Given the description of an element on the screen output the (x, y) to click on. 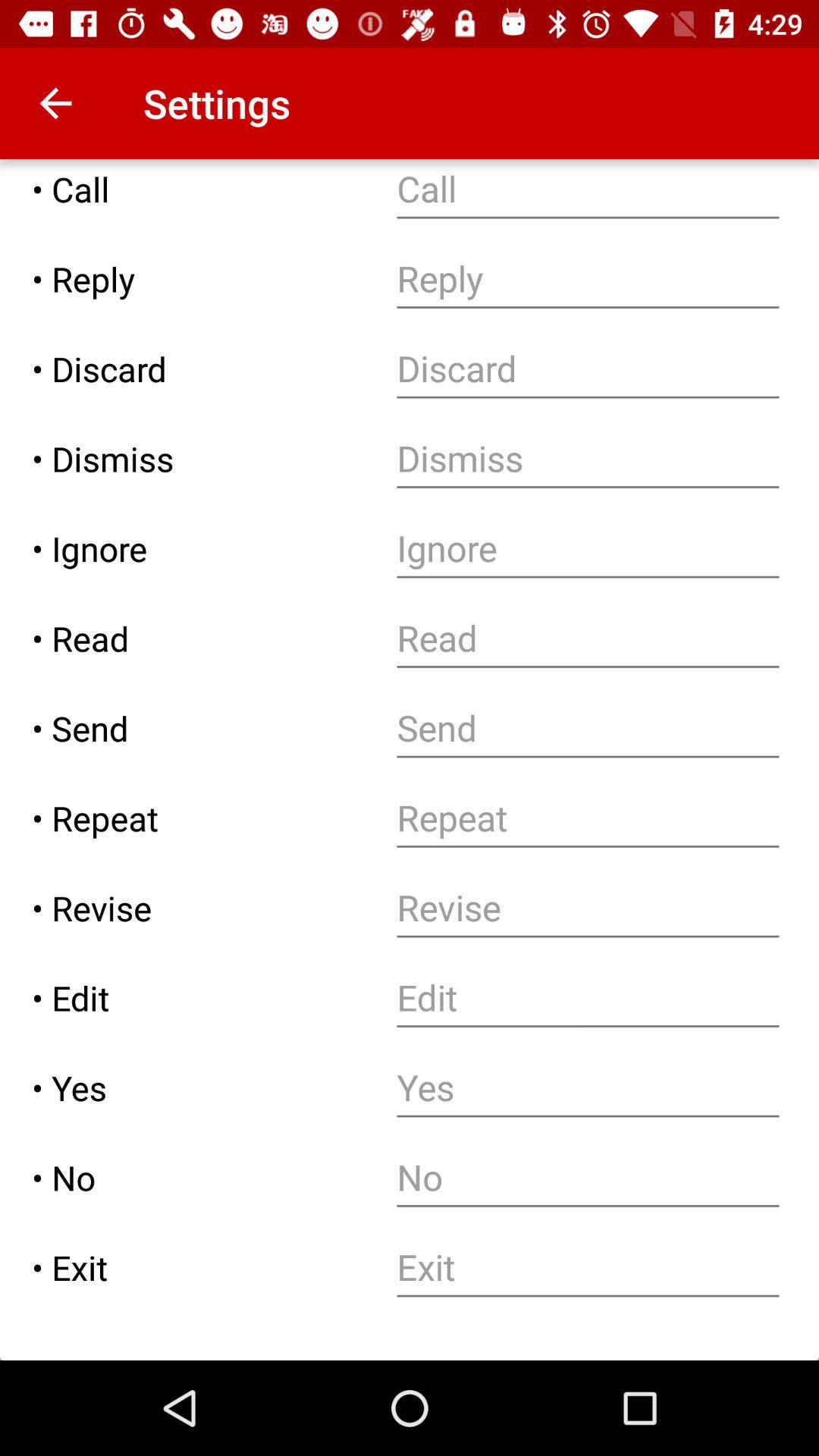
text input box (588, 998)
